Given the description of an element on the screen output the (x, y) to click on. 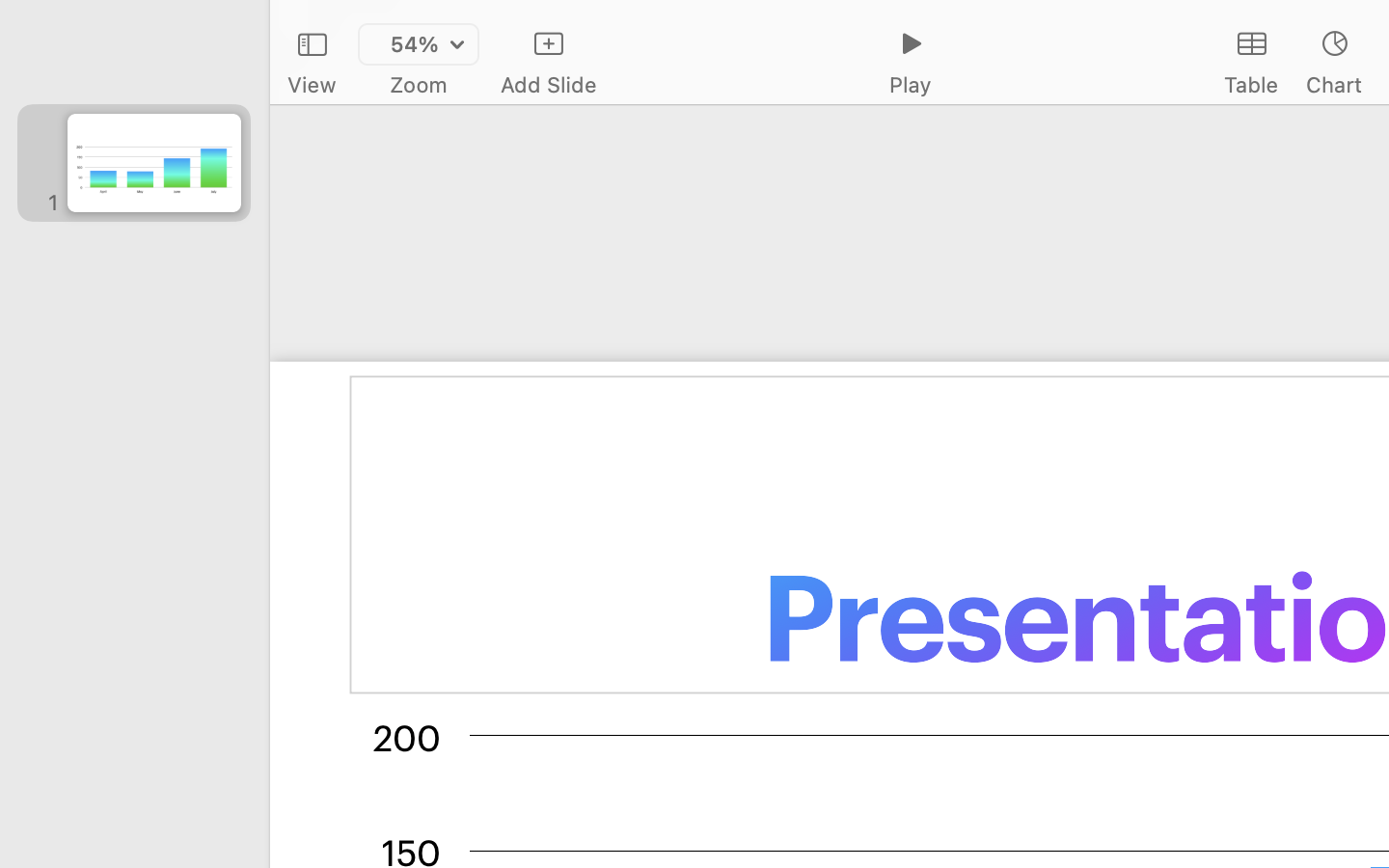
View Element type: AXStaticText (311, 84)
Zoom Element type: AXStaticText (418, 84)
